Given the description of an element on the screen output the (x, y) to click on. 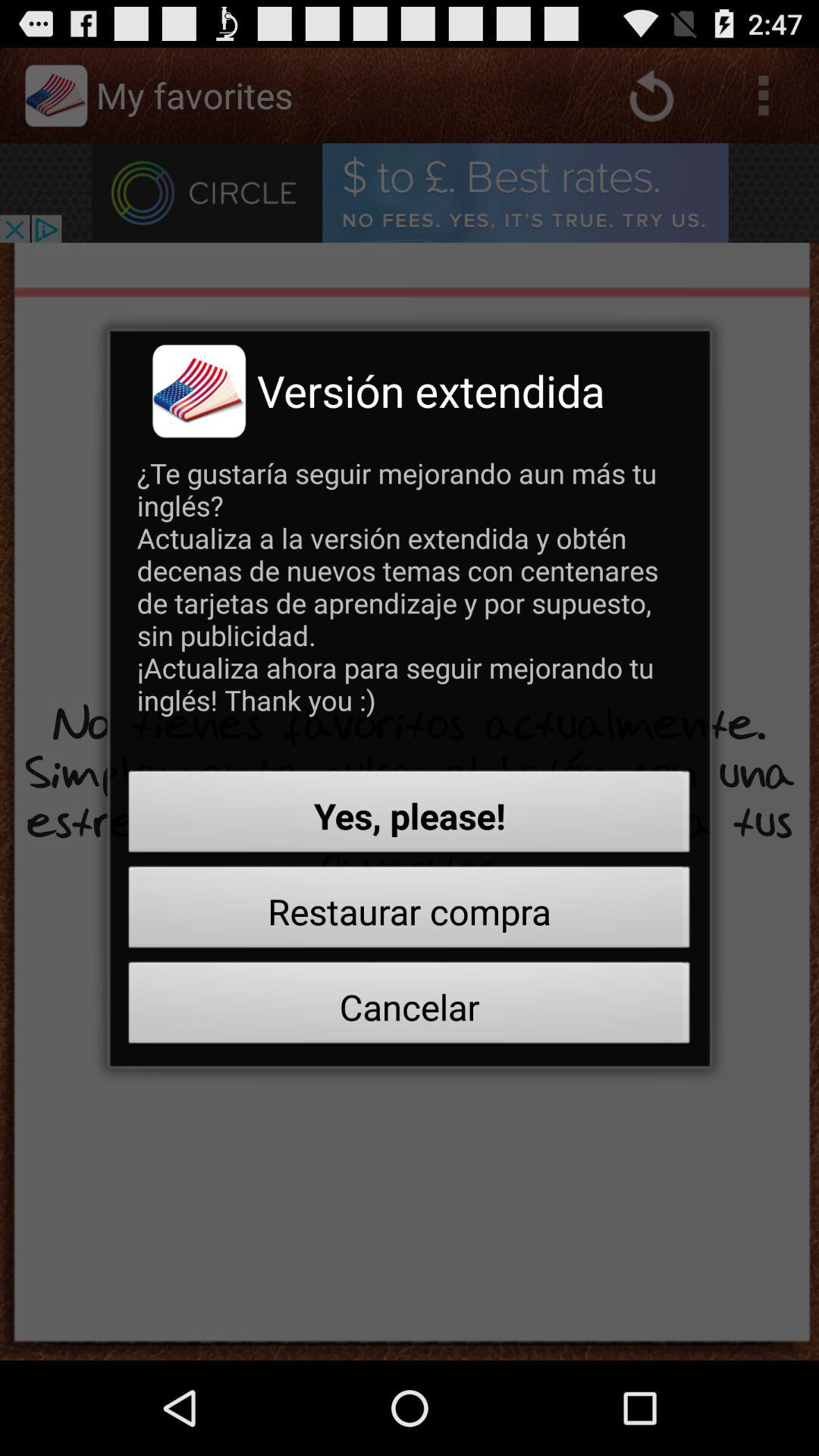
choose the restaurar compra button (409, 911)
